Given the description of an element on the screen output the (x, y) to click on. 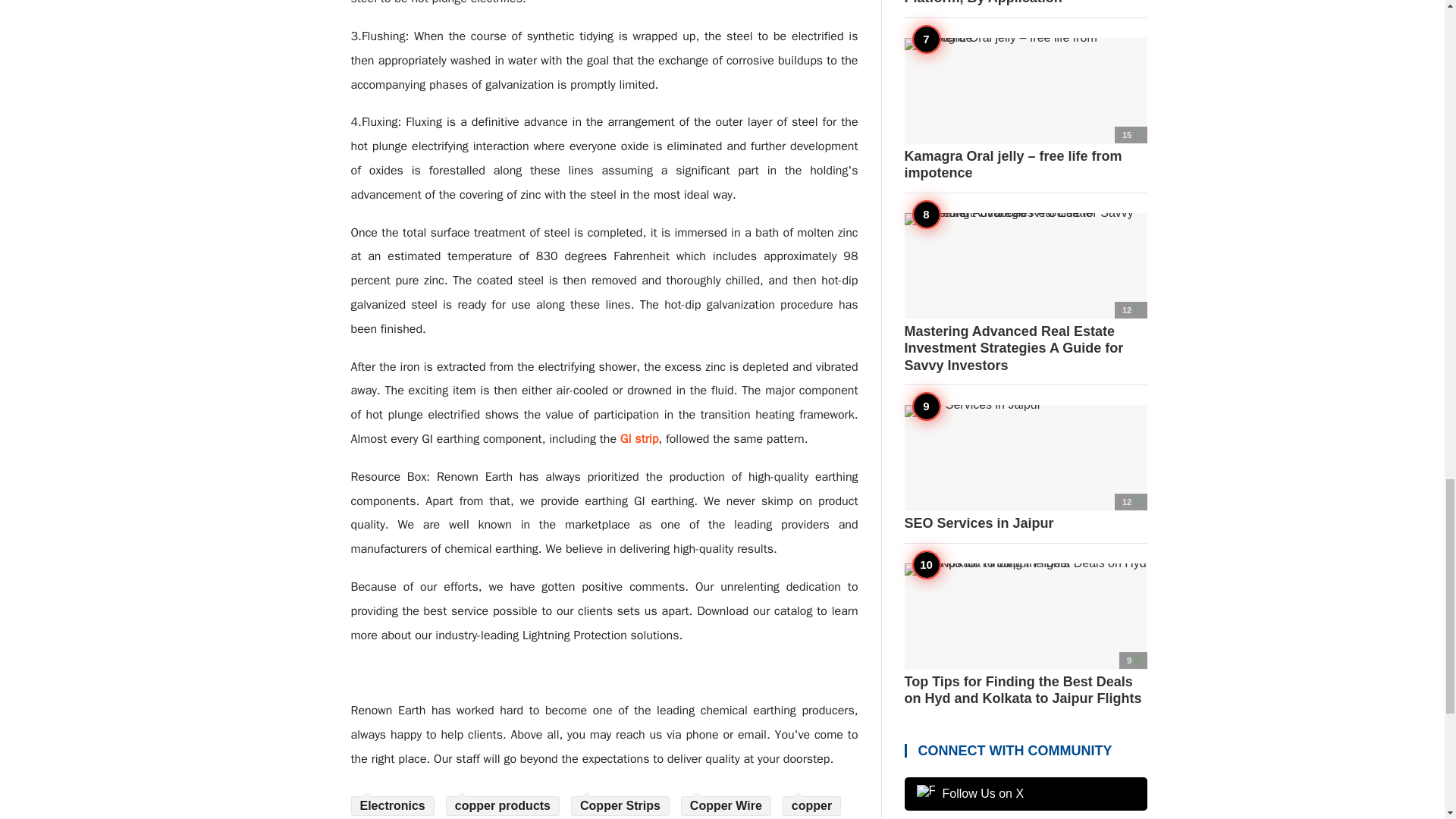
SEO Services in Jaipur (1025, 468)
Mass Spectrometry Market Size By Platform, By Application (1025, 2)
